Given the description of an element on the screen output the (x, y) to click on. 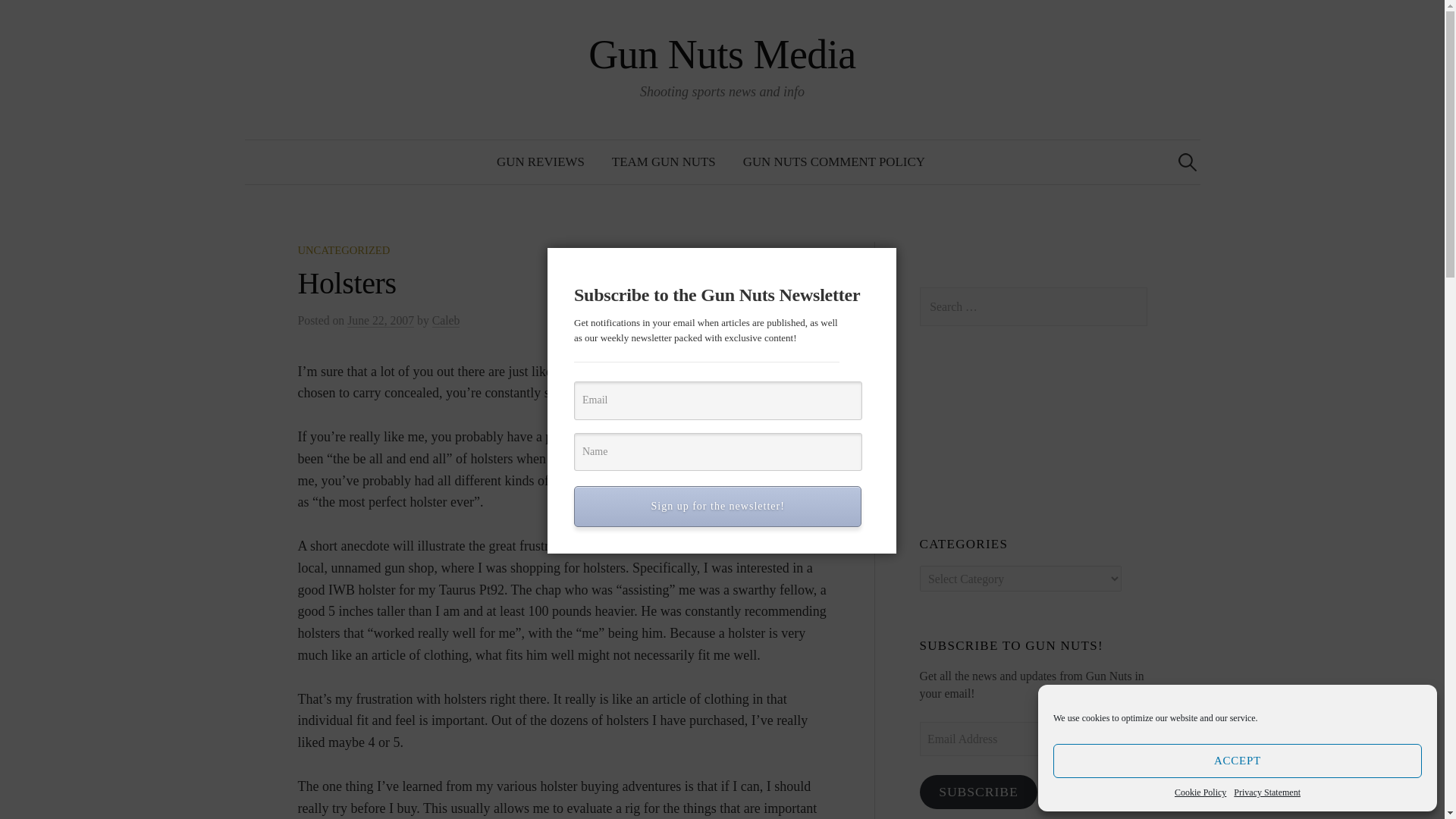
SUBSCRIBE (979, 791)
GUN NUTS COMMENT POLICY (834, 162)
Gun Nuts Media (722, 53)
Privacy Statement (1266, 792)
Search (18, 18)
Search (40, 18)
June 22, 2007 (380, 320)
View all posts by Caleb (446, 320)
Email (717, 400)
UNCATEGORIZED (343, 250)
Name (717, 451)
TEAM GUN NUTS (663, 162)
Cookie Policy (1199, 792)
Caleb (446, 320)
GUN REVIEWS (540, 162)
